Given the description of an element on the screen output the (x, y) to click on. 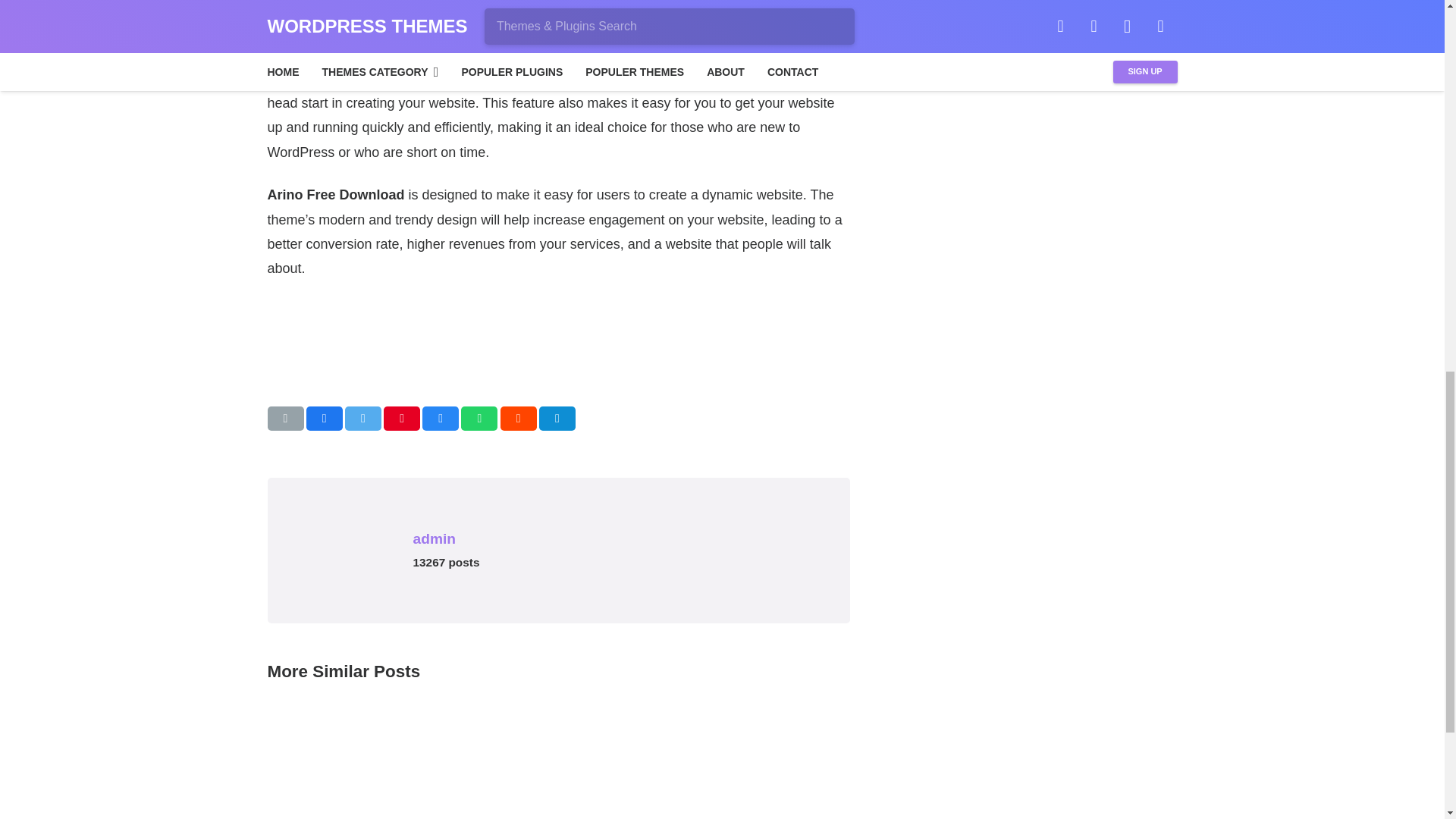
Share this (440, 418)
Share this (479, 418)
Share this (518, 418)
Email this (284, 418)
Share this (323, 418)
Share this (556, 418)
Tweet this (363, 418)
Pin this (402, 418)
